Given the description of an element on the screen output the (x, y) to click on. 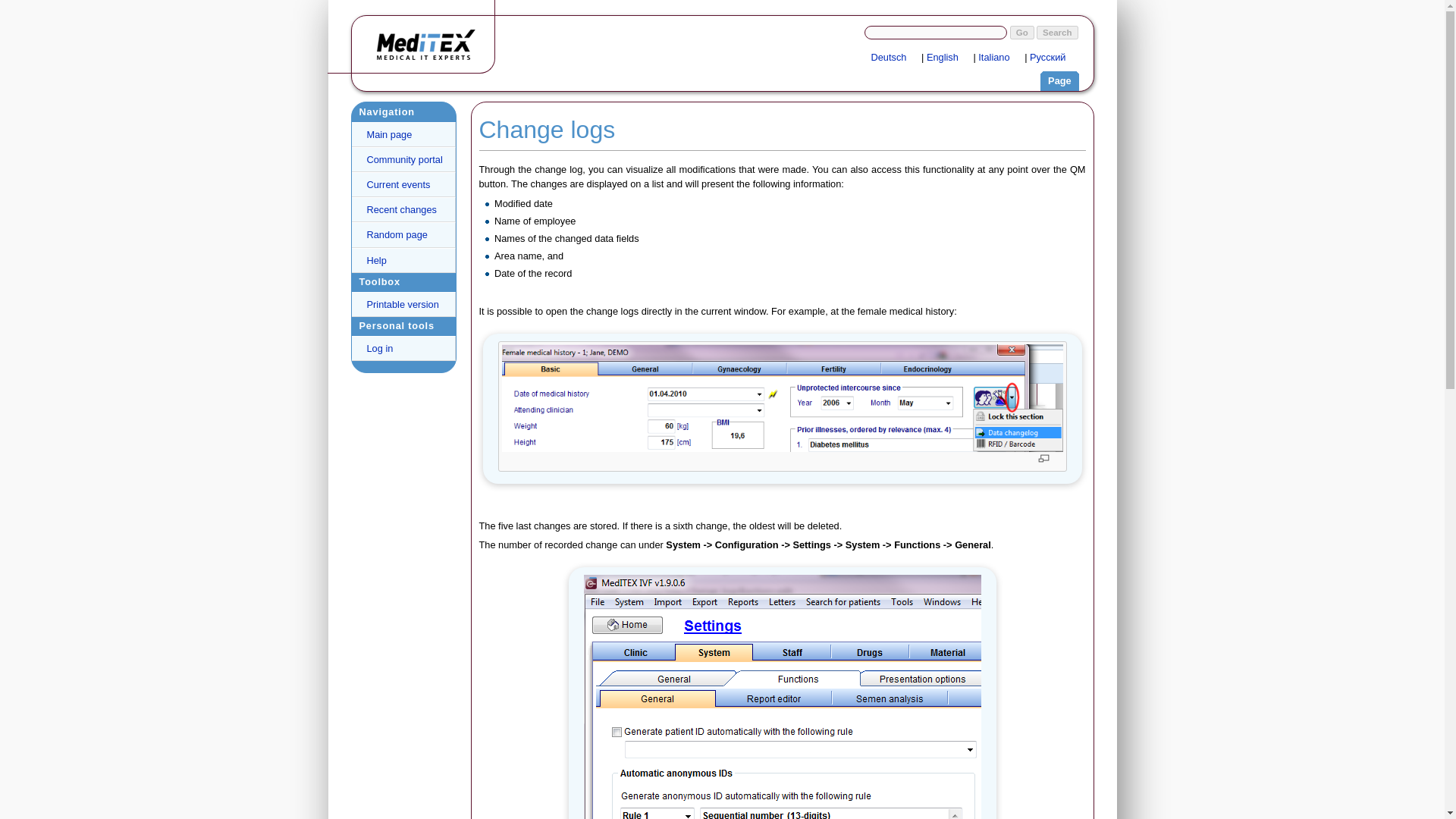
Special:UserLogin (948, 57)
The place to find out (403, 260)
Find background information on current events (403, 184)
Search the pages for this text (1056, 32)
Search (1056, 32)
Go to a page with this exact name if exists (1021, 32)
Special:UserLogin (1000, 57)
Log in (403, 347)
Visit the main page (429, 44)
